Given the description of an element on the screen output the (x, y) to click on. 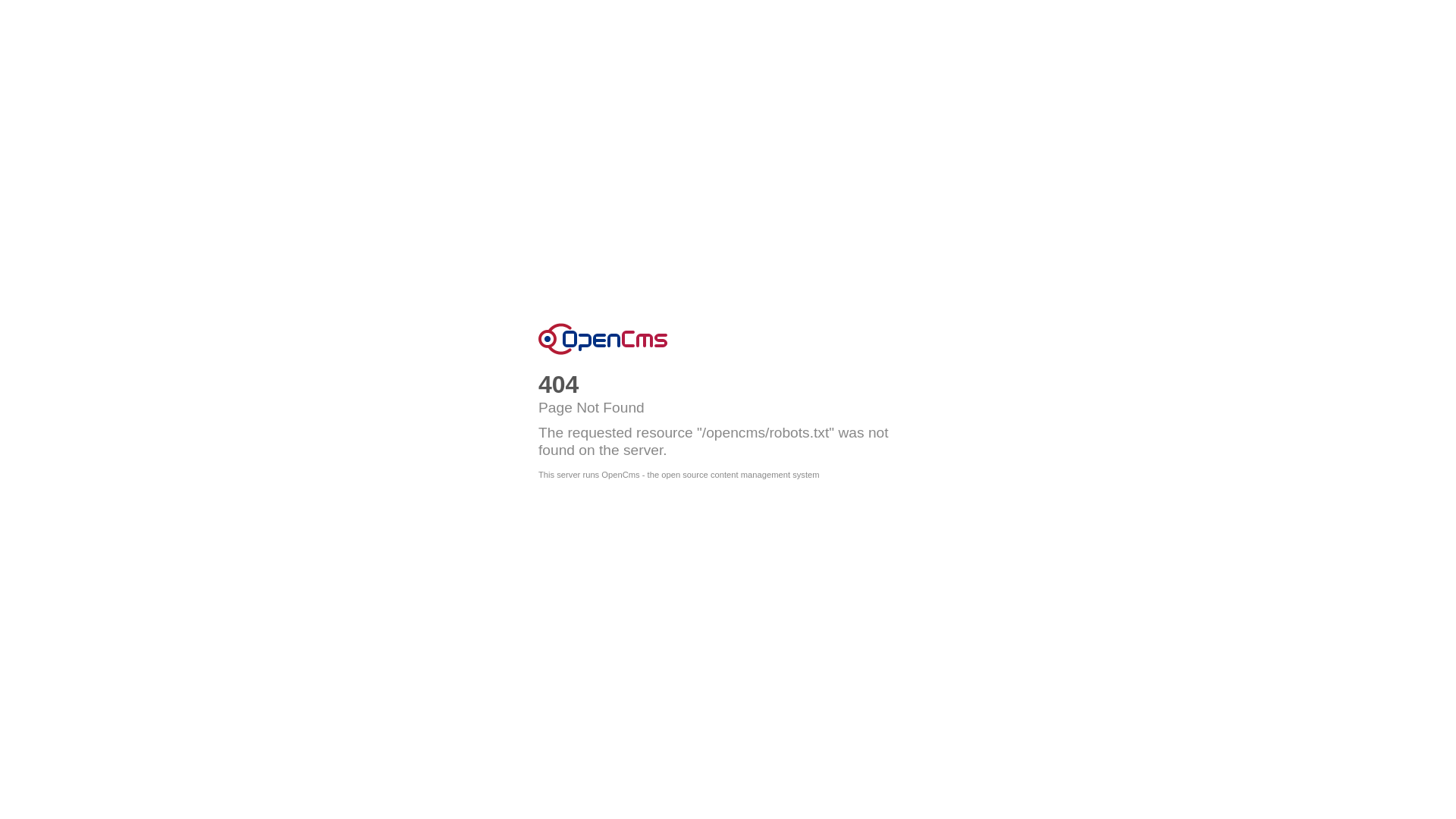
OpenCms Element type: text (602, 338)
